Given the description of an element on the screen output the (x, y) to click on. 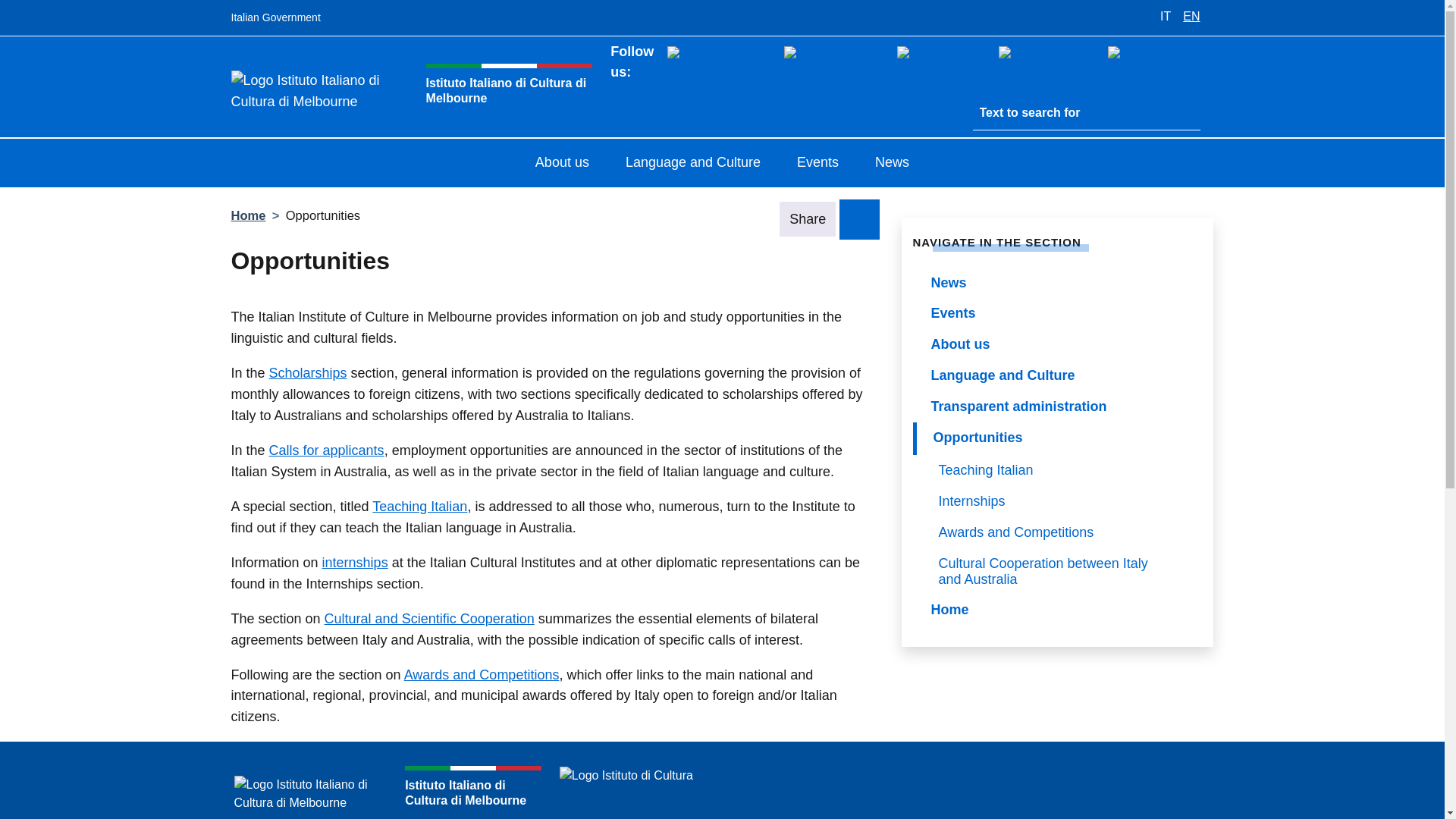
News (892, 163)
Teaching Italian (1061, 470)
About us (561, 163)
Internships (1061, 501)
Share on Social Network (859, 218)
Events (1057, 314)
Actual page (1057, 438)
Opportunities (1057, 438)
About us (1057, 344)
Language and Culture (1057, 375)
